Given the description of an element on the screen output the (x, y) to click on. 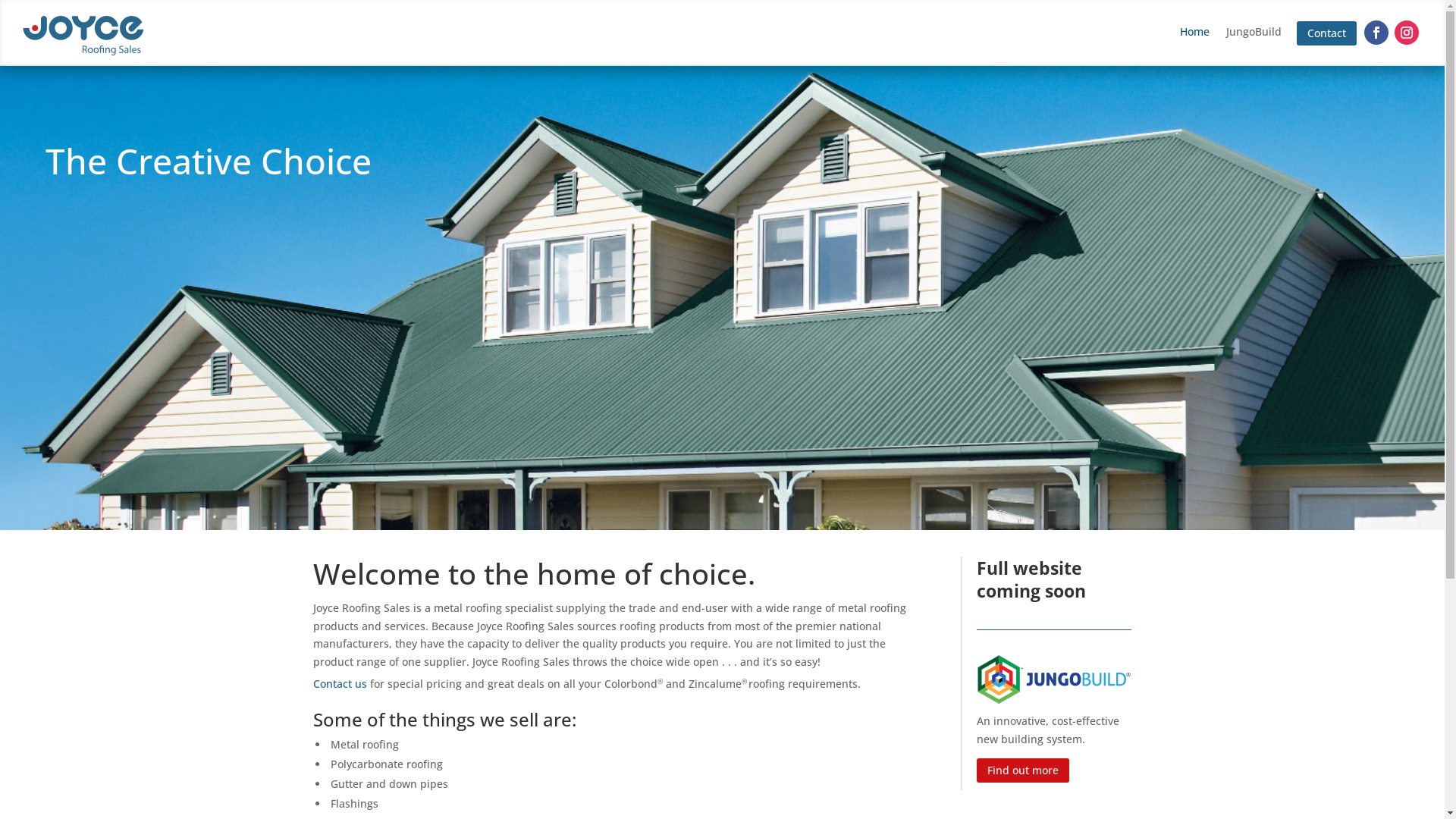
Contact us Element type: text (339, 683)
Follow on Instagram Element type: hover (1406, 32)
Find out more Element type: text (1022, 770)
Follow on Facebook Element type: hover (1376, 32)
JungoBuild Element type: text (1253, 34)
Contact Element type: text (1326, 33)
Home Element type: text (1194, 34)
